Given the description of an element on the screen output the (x, y) to click on. 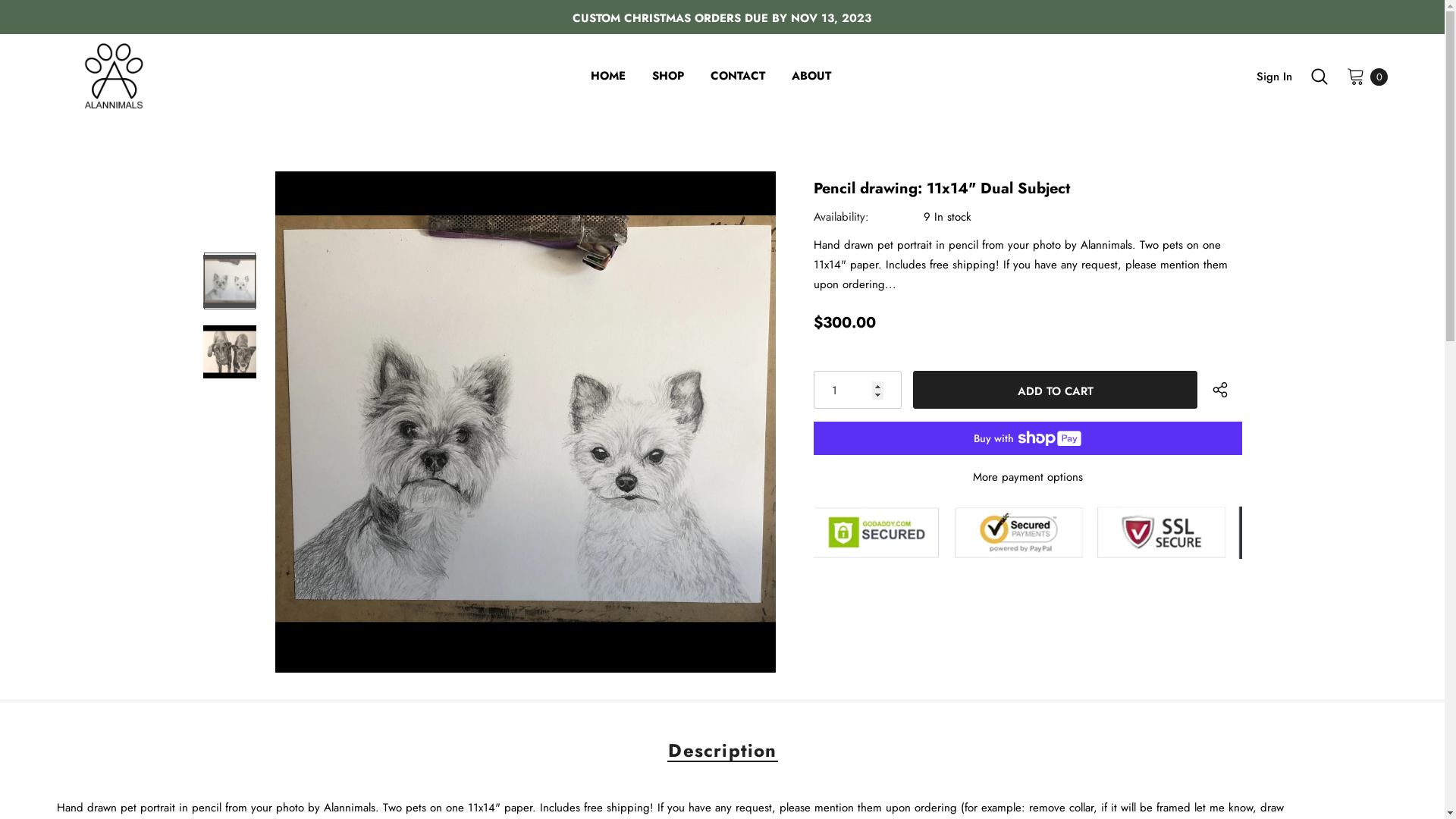
0 Element type: text (1355, 75)
HOME Element type: text (607, 77)
ABOUT Element type: text (811, 77)
Add to cart Element type: text (1055, 389)
CONTACT Element type: text (737, 77)
Search Icon Element type: hover (1319, 76)
Description Element type: text (722, 750)
More payment options Element type: text (1027, 476)
Logo Element type: hover (183, 76)
Sign In Element type: text (1274, 76)
SHOP Element type: text (668, 77)
